Given the description of an element on the screen output the (x, y) to click on. 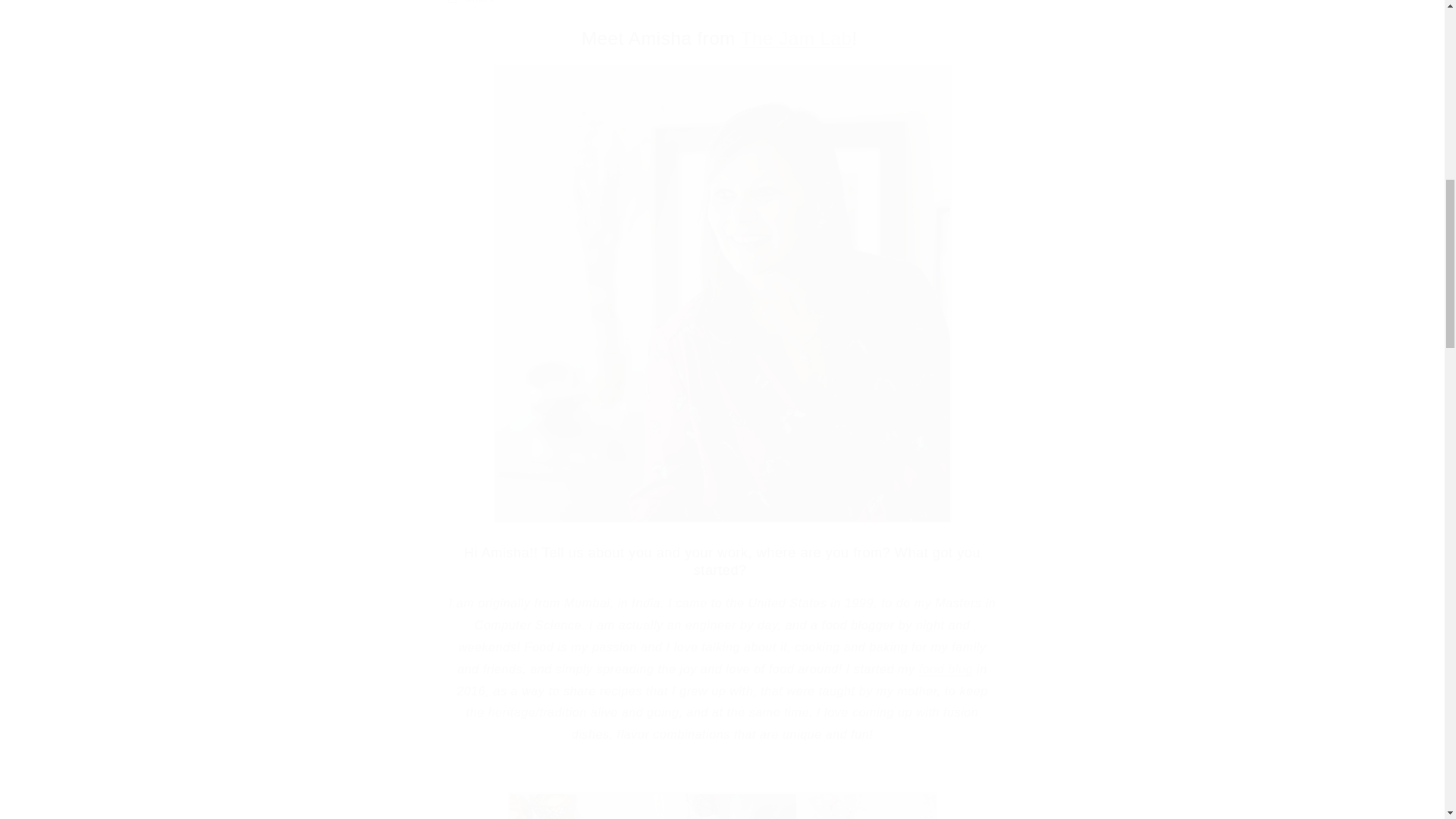
Share (721, 7)
